Given the description of an element on the screen output the (x, y) to click on. 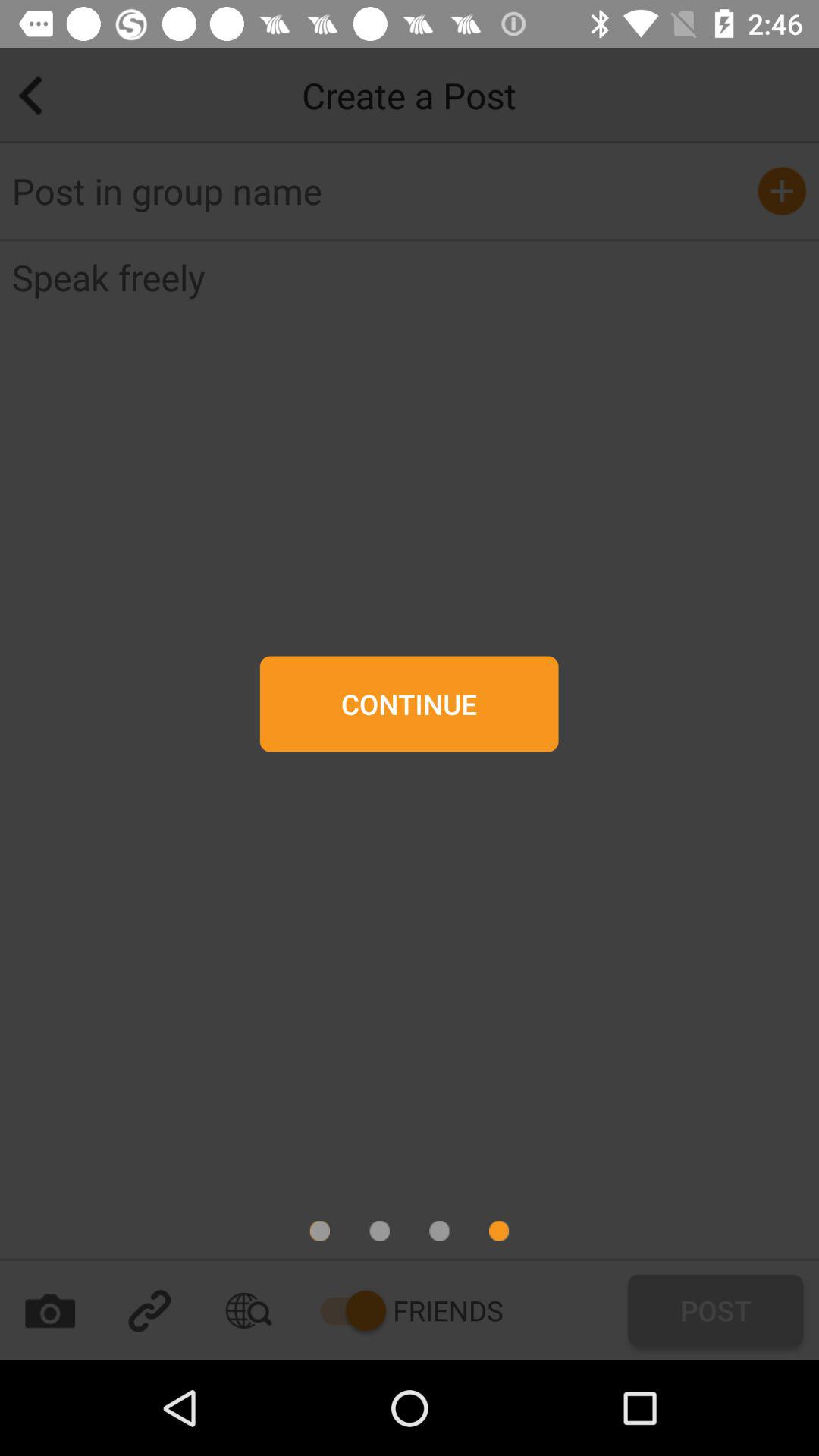
scroll to continue button (408, 703)
